Given the description of an element on the screen output the (x, y) to click on. 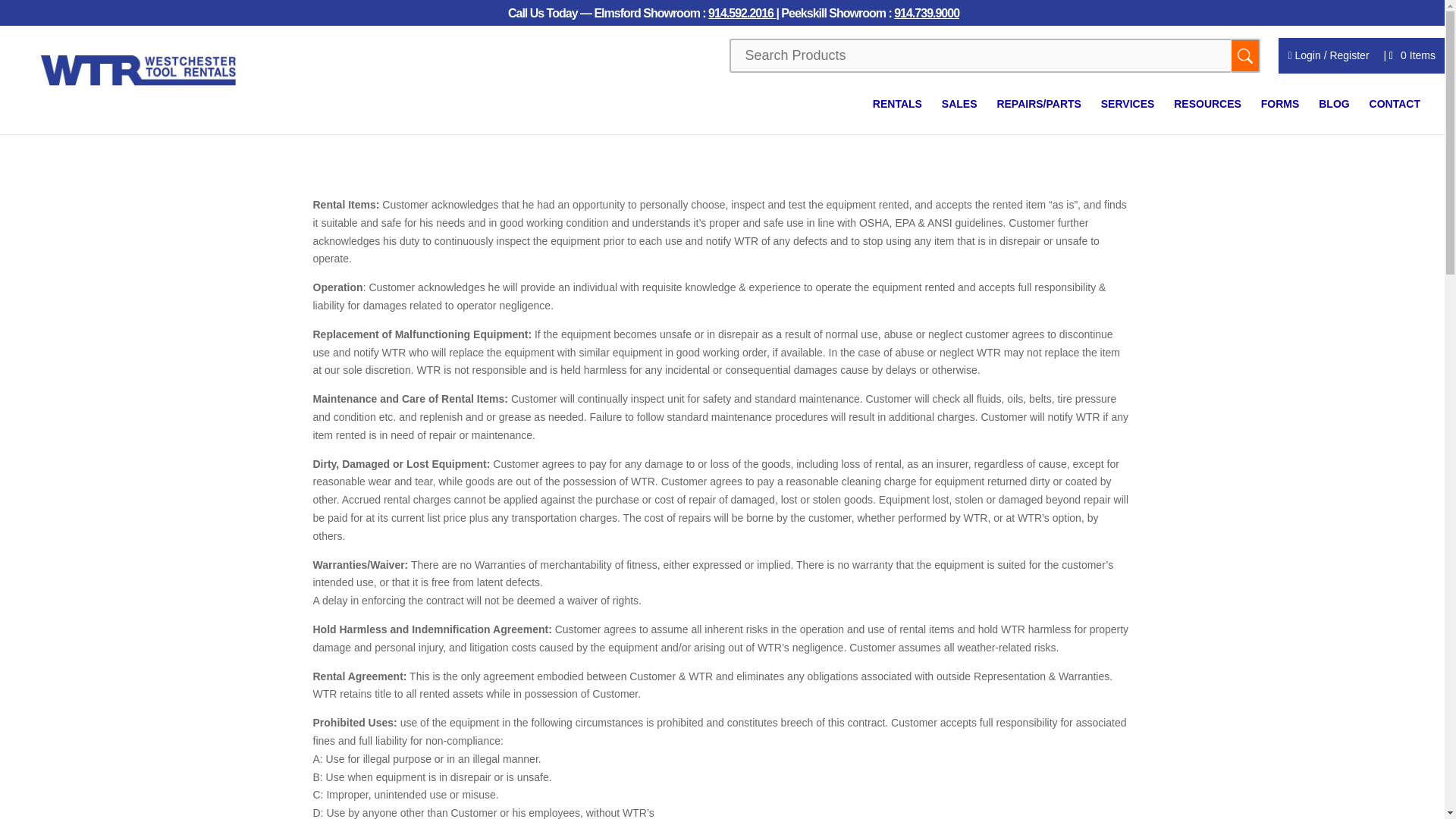
RENTALS (896, 116)
CONTACT (1395, 116)
SALES (959, 116)
914.592.2016 (741, 17)
FORMS (1280, 116)
RESOURCES (1207, 116)
SERVICES (1127, 116)
0 Items (1412, 51)
Search for: (979, 55)
914.739.9000 (926, 17)
